Given the description of an element on the screen output the (x, y) to click on. 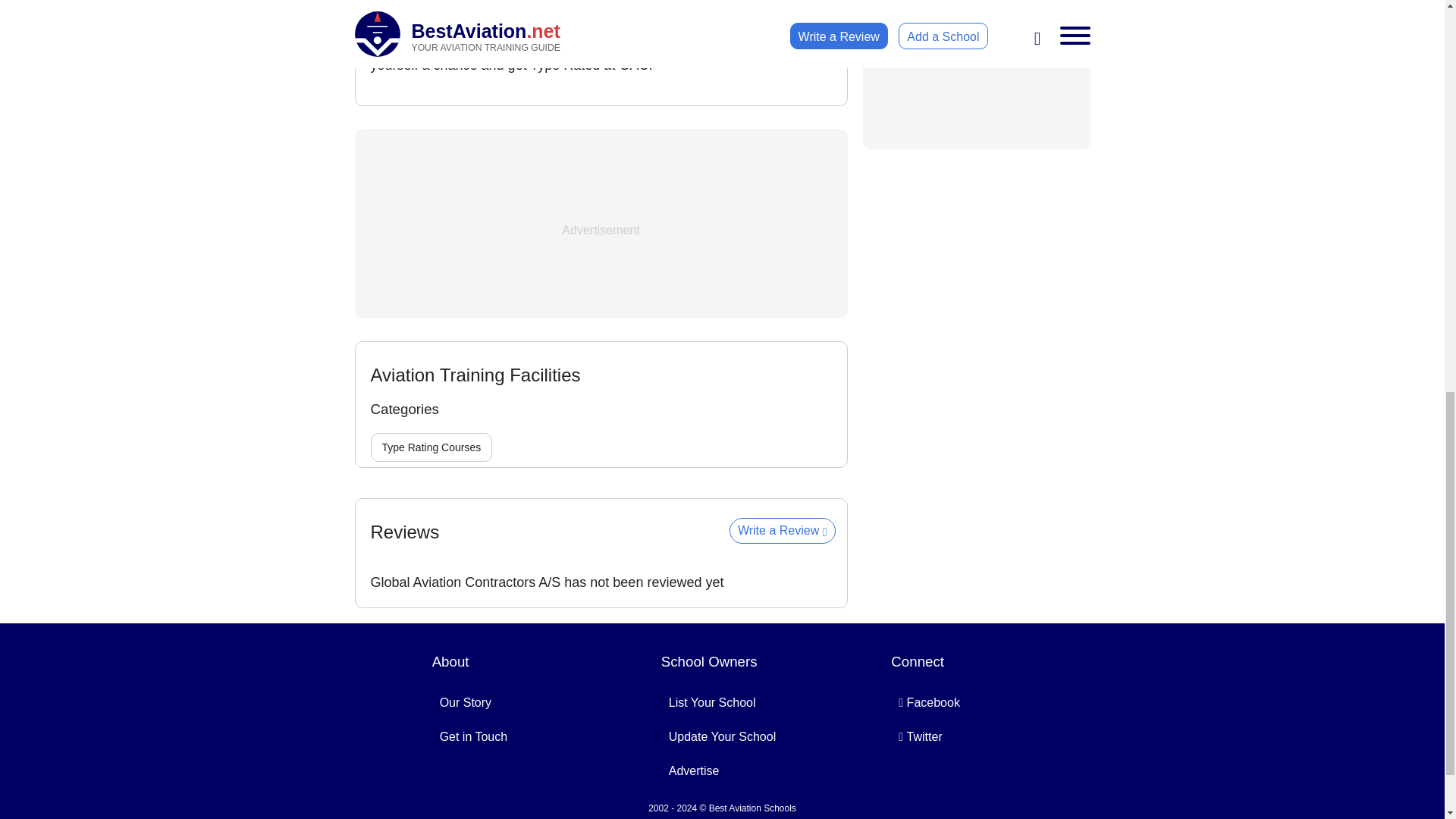
Facebook (929, 702)
Our Story (465, 702)
Get in Touch (473, 736)
List Your School (711, 702)
Advertise (693, 770)
Twitter (920, 736)
Write a Review (782, 530)
Update Your School (722, 736)
